Given the description of an element on the screen output the (x, y) to click on. 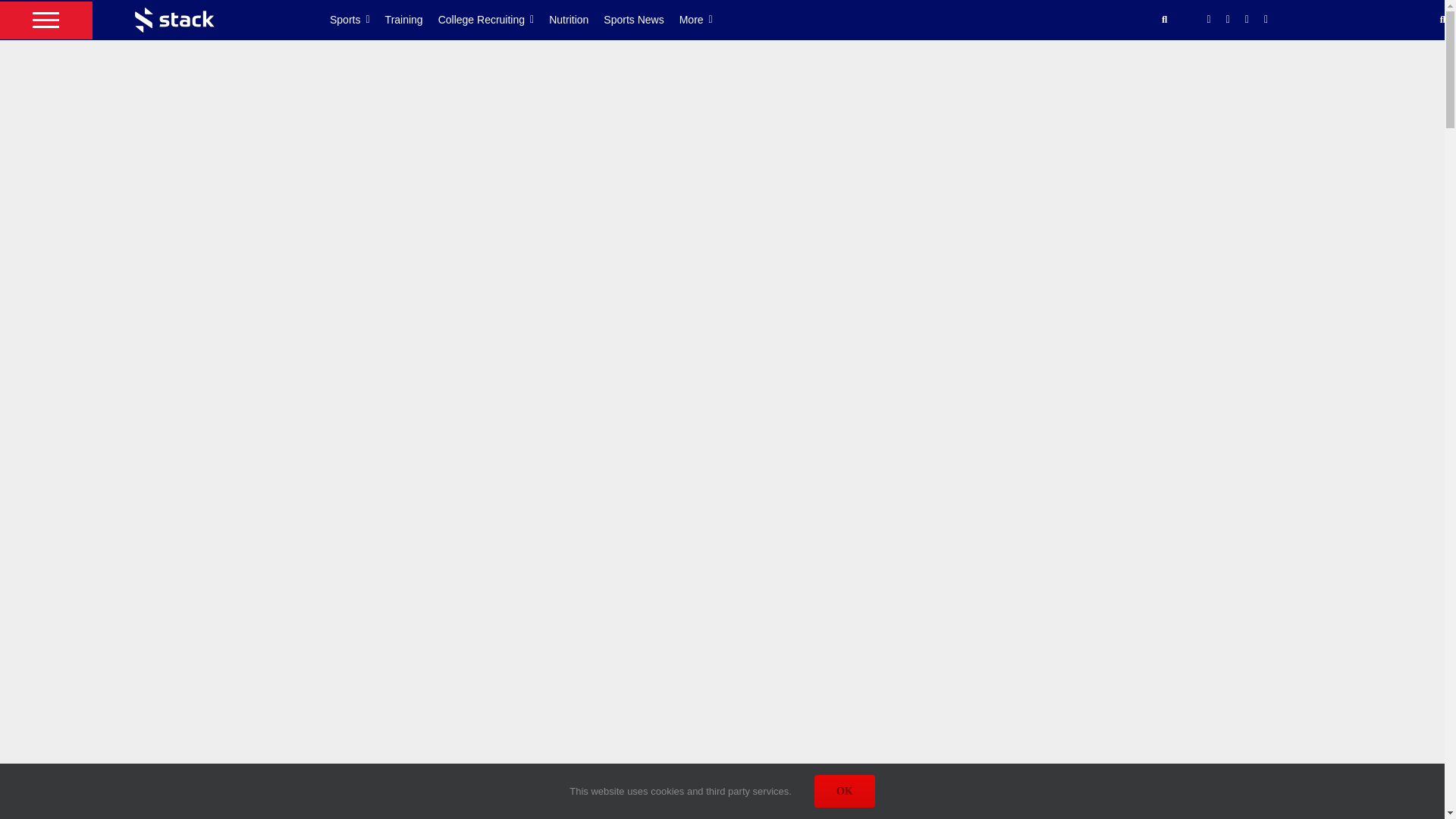
Sports (357, 19)
Training (411, 19)
More (703, 19)
Nutrition (576, 19)
Sports News (641, 19)
College Recruiting (494, 19)
